Given the description of an element on the screen output the (x, y) to click on. 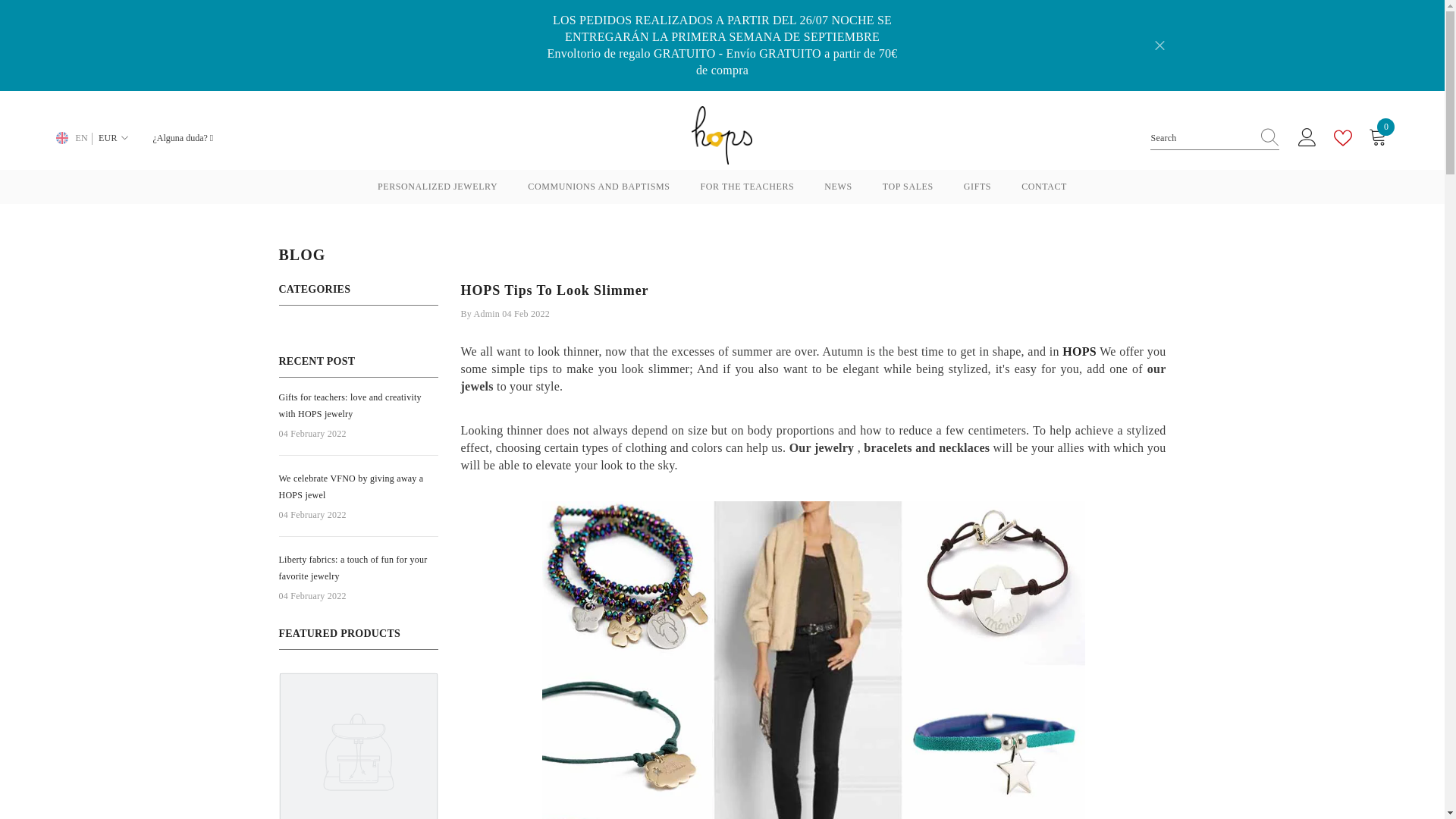
PERSONALIZED JEWELRY (437, 190)
HOPS, your online jewelry store (1079, 350)
FOR THE TEACHERS (746, 190)
COMMUNIONS AND BAPTISMS (598, 190)
Close (1159, 45)
EN (68, 137)
NEWS (837, 190)
Log in (1307, 137)
GIFTS (977, 190)
TOP SALES (908, 190)
